Given the description of an element on the screen output the (x, y) to click on. 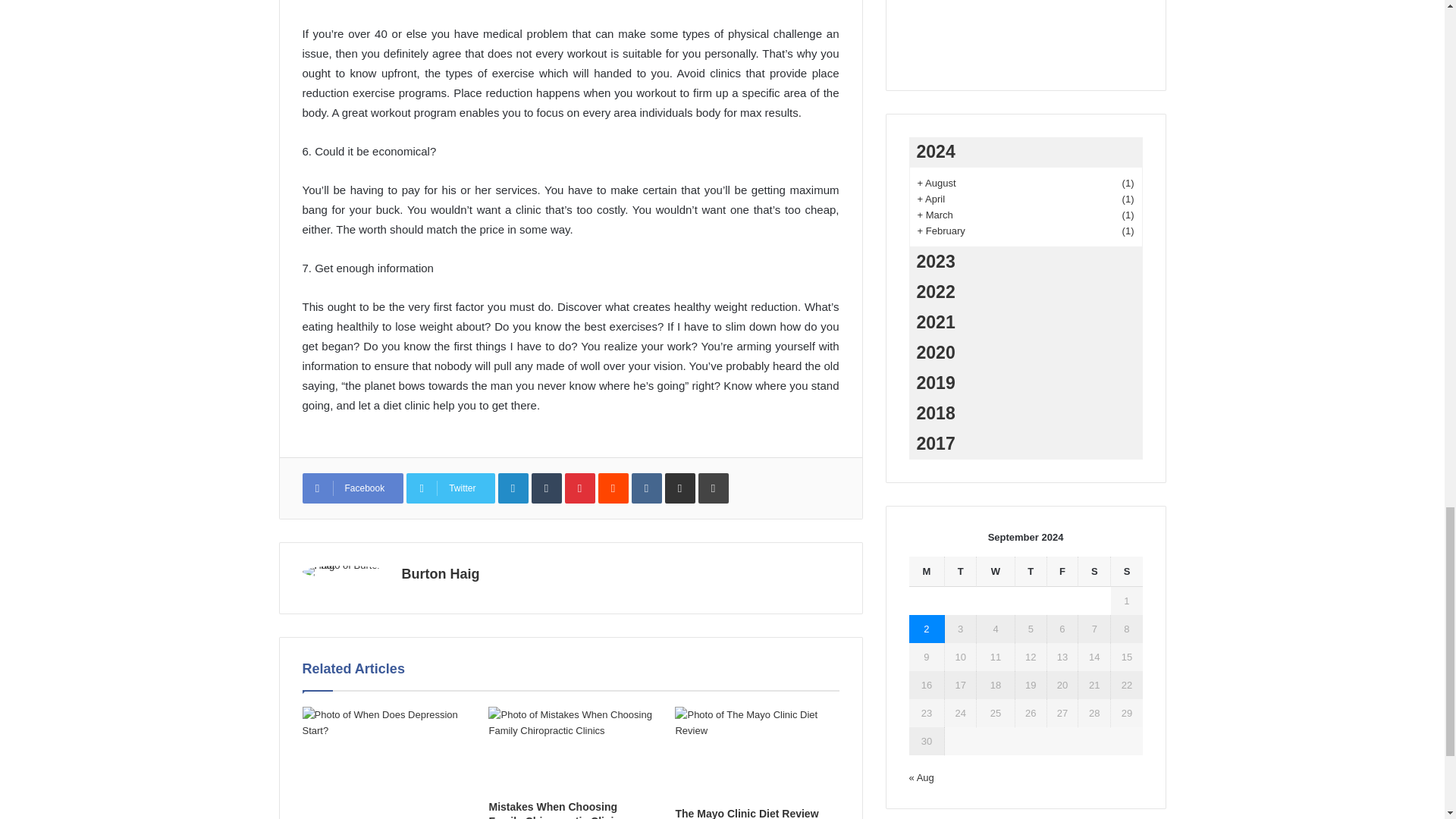
Saturday (1094, 571)
Friday (1062, 571)
LinkedIn (512, 488)
Facebook (352, 488)
VKontakte (646, 488)
Twitter (450, 488)
Print (713, 488)
Sunday (1125, 571)
Wednesday (995, 571)
Pinterest (579, 488)
